Given the description of an element on the screen output the (x, y) to click on. 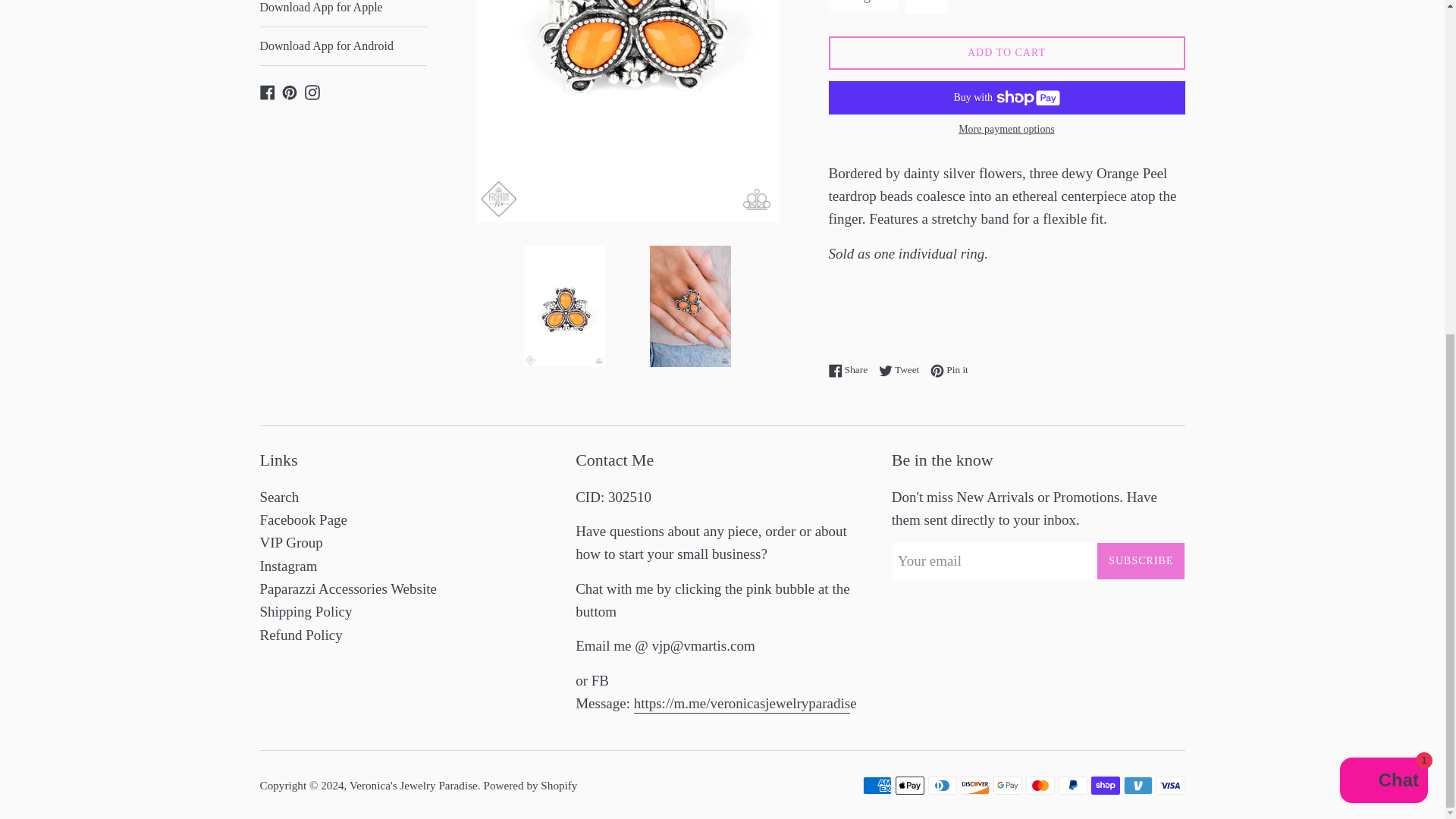
Paparazzi Accessories Website (347, 588)
Pinterest (289, 91)
Shopify online store chat (1383, 222)
Veronica's Jewelry Paradise on Pinterest (289, 91)
Visa (1170, 785)
Shop Pay (851, 369)
Veronica's Jewelry Paradise on Facebook (1104, 785)
Tweet on Twitter (267, 91)
Veronica's Jewelry Paradise on Instagram (902, 369)
Instagram (312, 91)
Google Pay (312, 91)
ADD TO CART (1007, 785)
Download App for Apple (1006, 53)
VIP Group (342, 13)
